Given the description of an element on the screen output the (x, y) to click on. 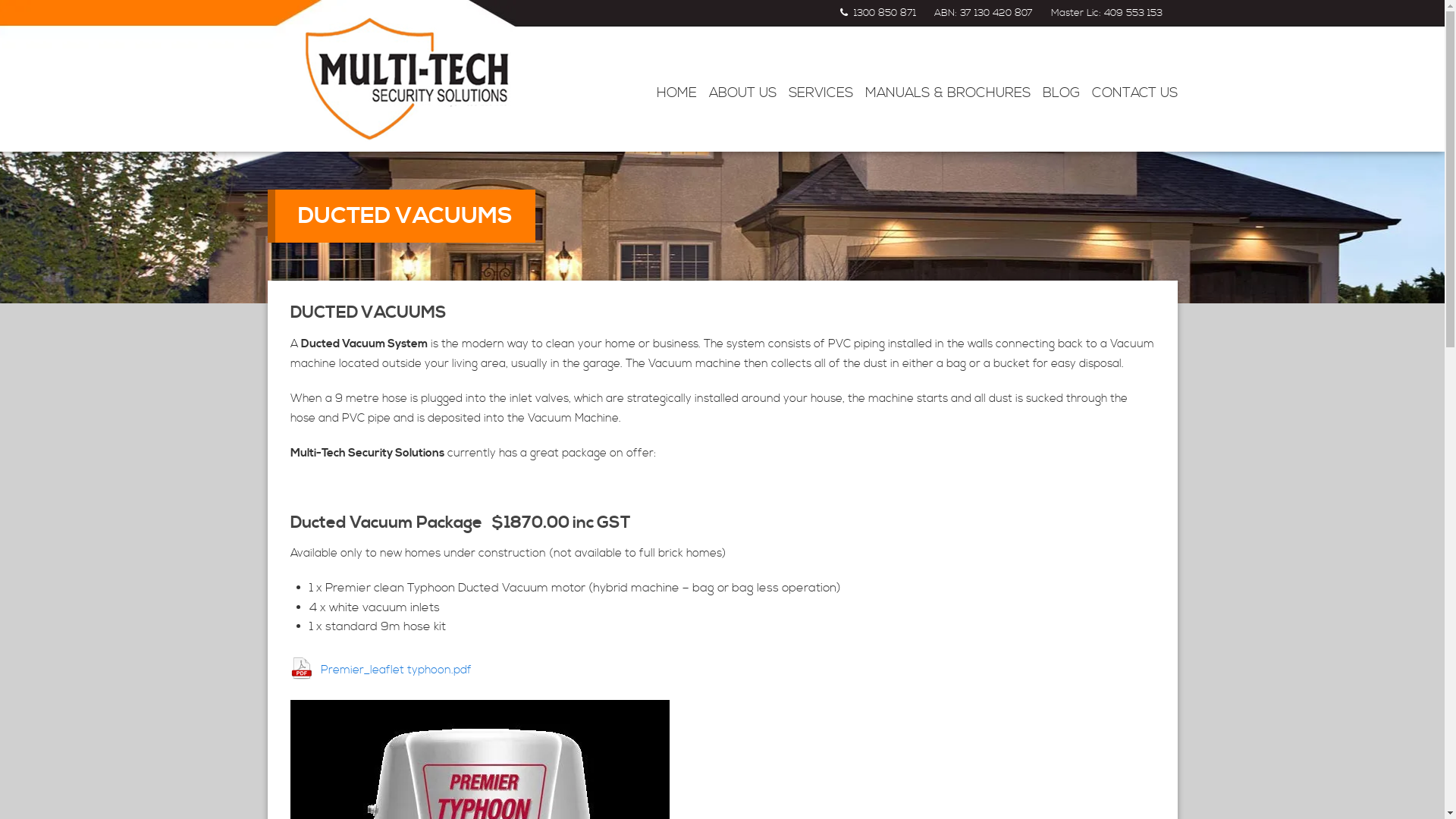
CONTACT US Element type: text (1134, 92)
ABOUT US Element type: text (741, 92)
MANUALS & BROCHURES Element type: text (946, 92)
SERVICES Element type: text (820, 92)
BLOG Element type: text (1060, 92)
Premier_leaflet typhoon.pdf Element type: text (379, 668)
HOME Element type: text (676, 92)
